Given the description of an element on the screen output the (x, y) to click on. 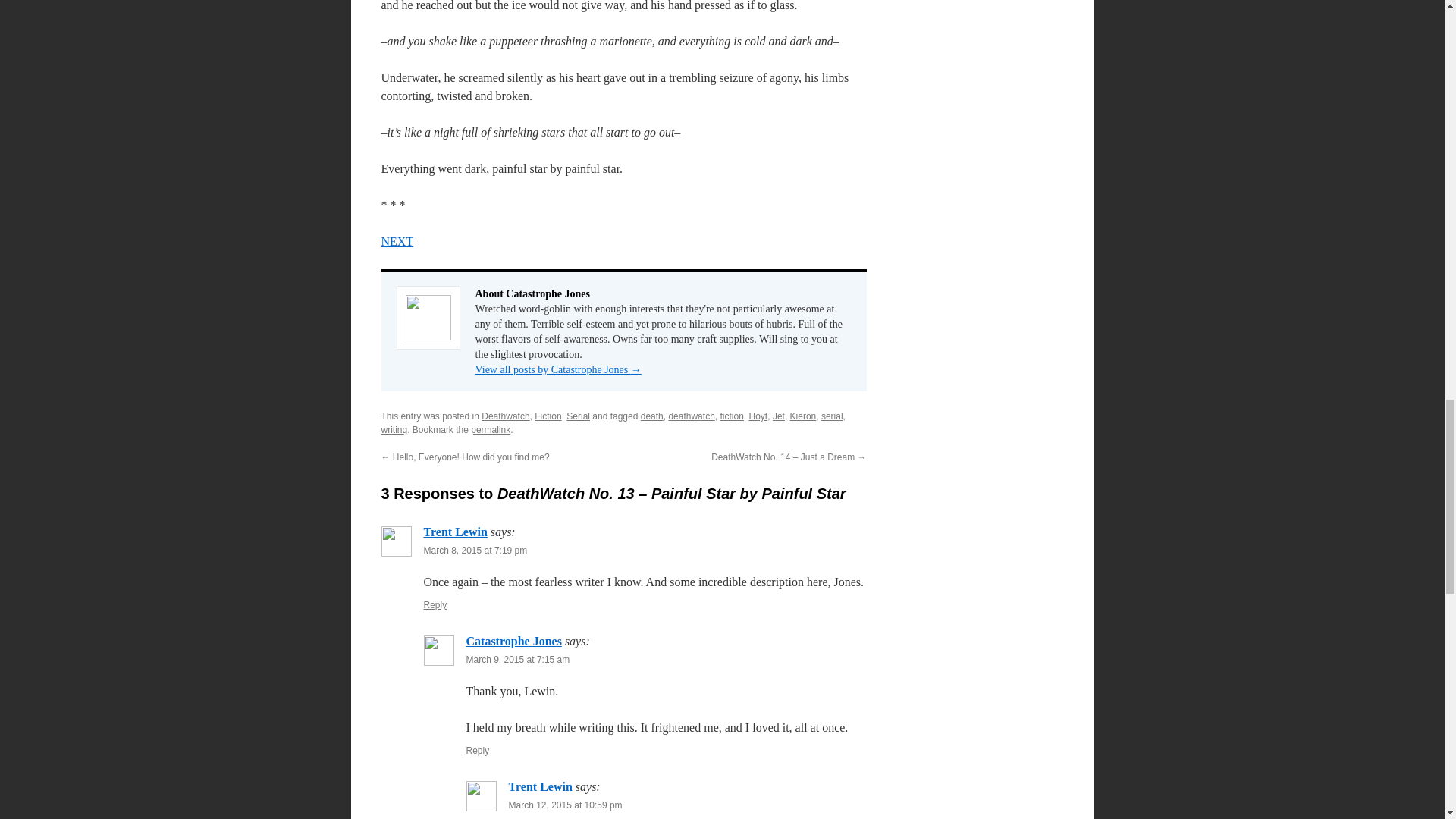
permalink (490, 429)
Jet (778, 416)
deathwatch (691, 416)
Deathwatch (505, 416)
NEXT (396, 241)
fiction (730, 416)
Serial (577, 416)
Kieron (803, 416)
Fiction (547, 416)
writing (393, 429)
death (651, 416)
serial (832, 416)
Hoyt (758, 416)
